Given the description of an element on the screen output the (x, y) to click on. 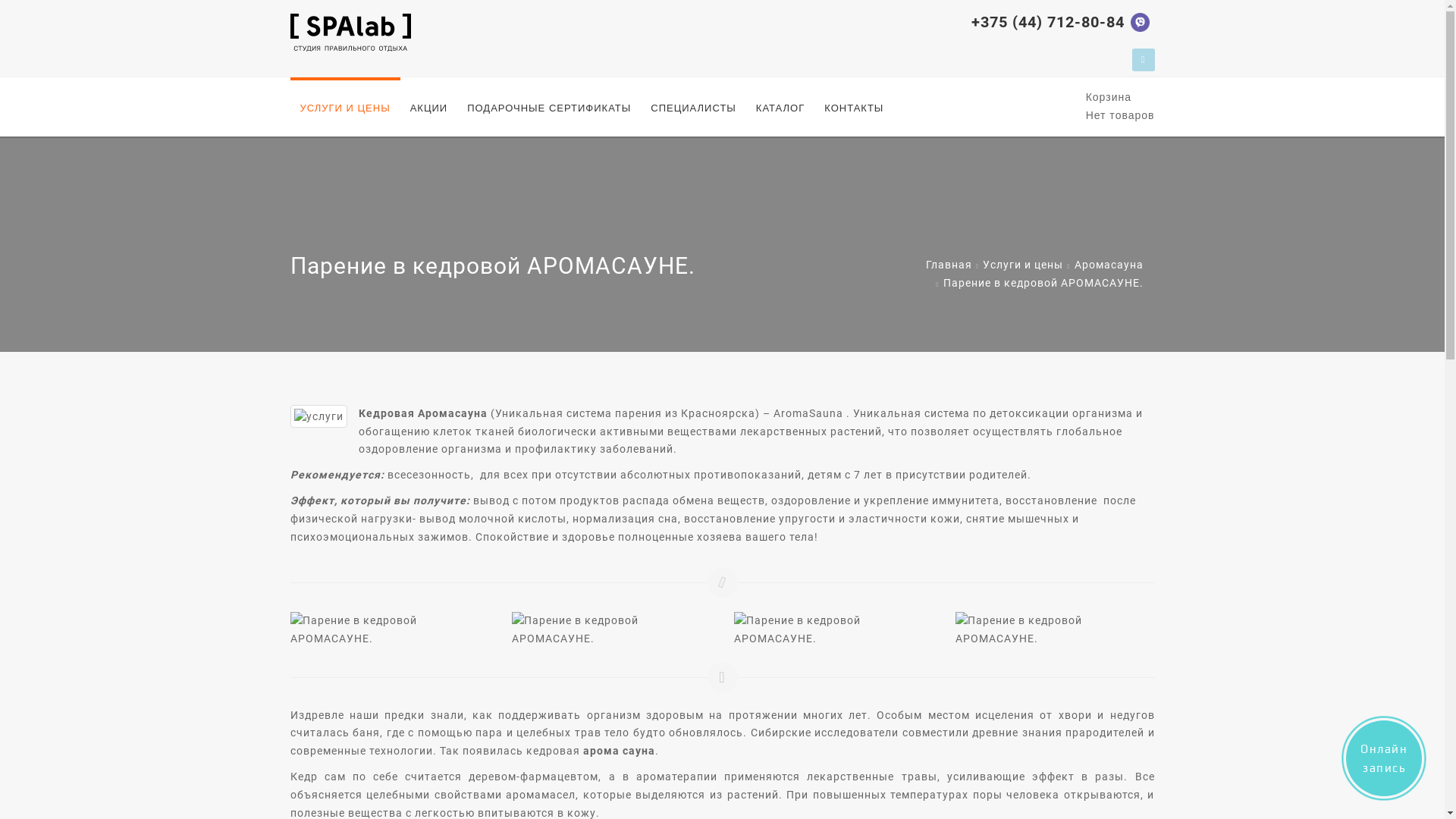
+375 (44) 712-80-84 Element type: text (1046, 21)
